Given the description of an element on the screen output the (x, y) to click on. 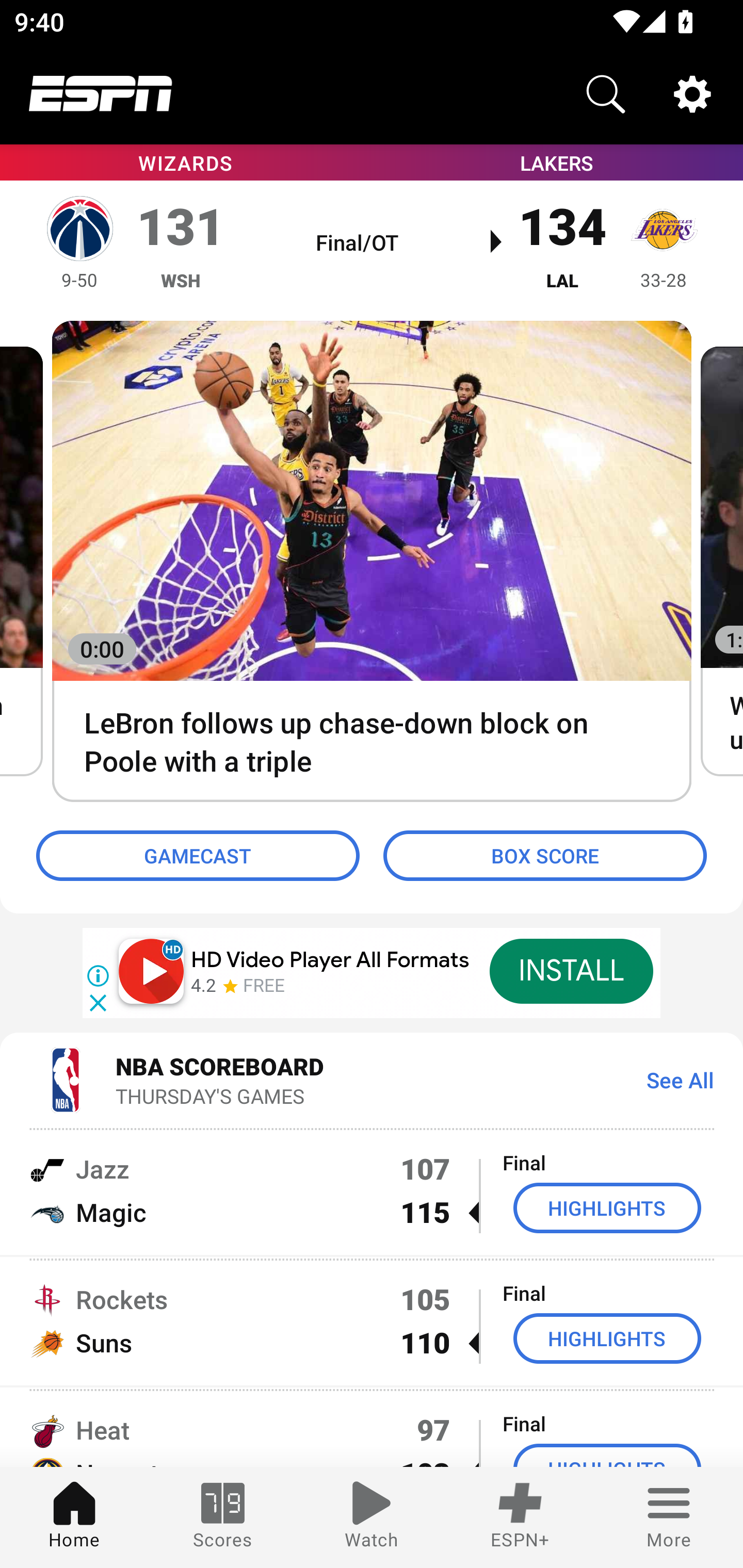
Search (605, 93)
Settings (692, 93)
GAMECAST (197, 856)
BOX SCORE (544, 856)
INSTALL (570, 971)
HD Video Player All Formats (330, 960)
NBA SCOREBOARD THURSDAY'S GAMES See All (371, 1079)
Jazz 107 Final Magic 115  HIGHLIGHTS (371, 1189)
HIGHLIGHTS (607, 1208)
Rockets 105 Final Suns 110  HIGHLIGHTS (371, 1321)
HIGHLIGHTS (607, 1338)
Heat 97 Final Nuggets 103  HIGHLIGHTS (371, 1427)
Scores (222, 1517)
Watch (371, 1517)
ESPN+ (519, 1517)
More (668, 1517)
